Given the description of an element on the screen output the (x, y) to click on. 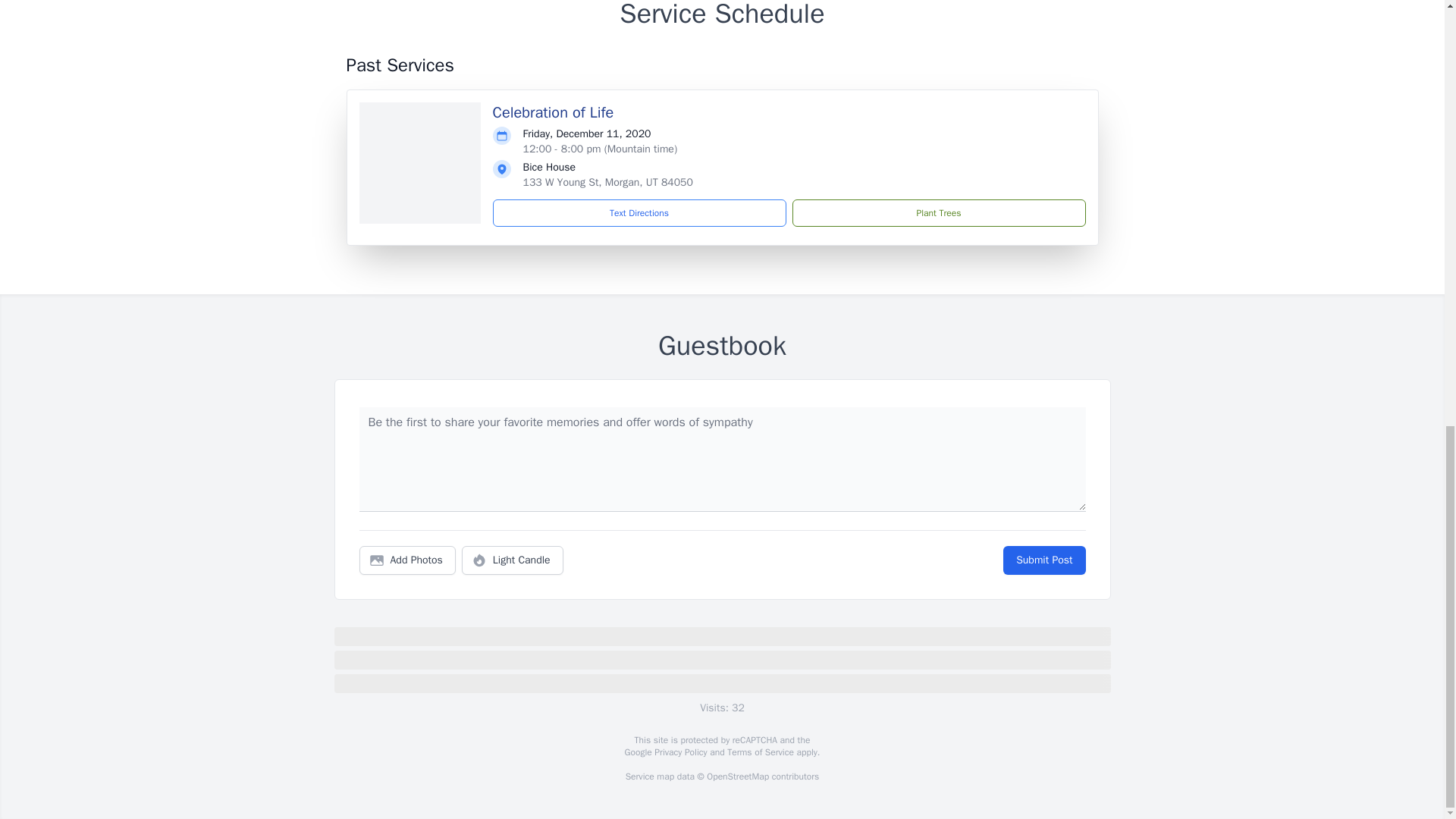
OpenStreetMap (737, 776)
Terms of Service (759, 752)
Light Candle (512, 560)
Privacy Policy (679, 752)
Add Photos (407, 560)
Plant Trees (938, 212)
Text Directions (639, 212)
Submit Post (1043, 560)
133 W Young St, Morgan, UT 84050 (607, 182)
